Given the description of an element on the screen output the (x, y) to click on. 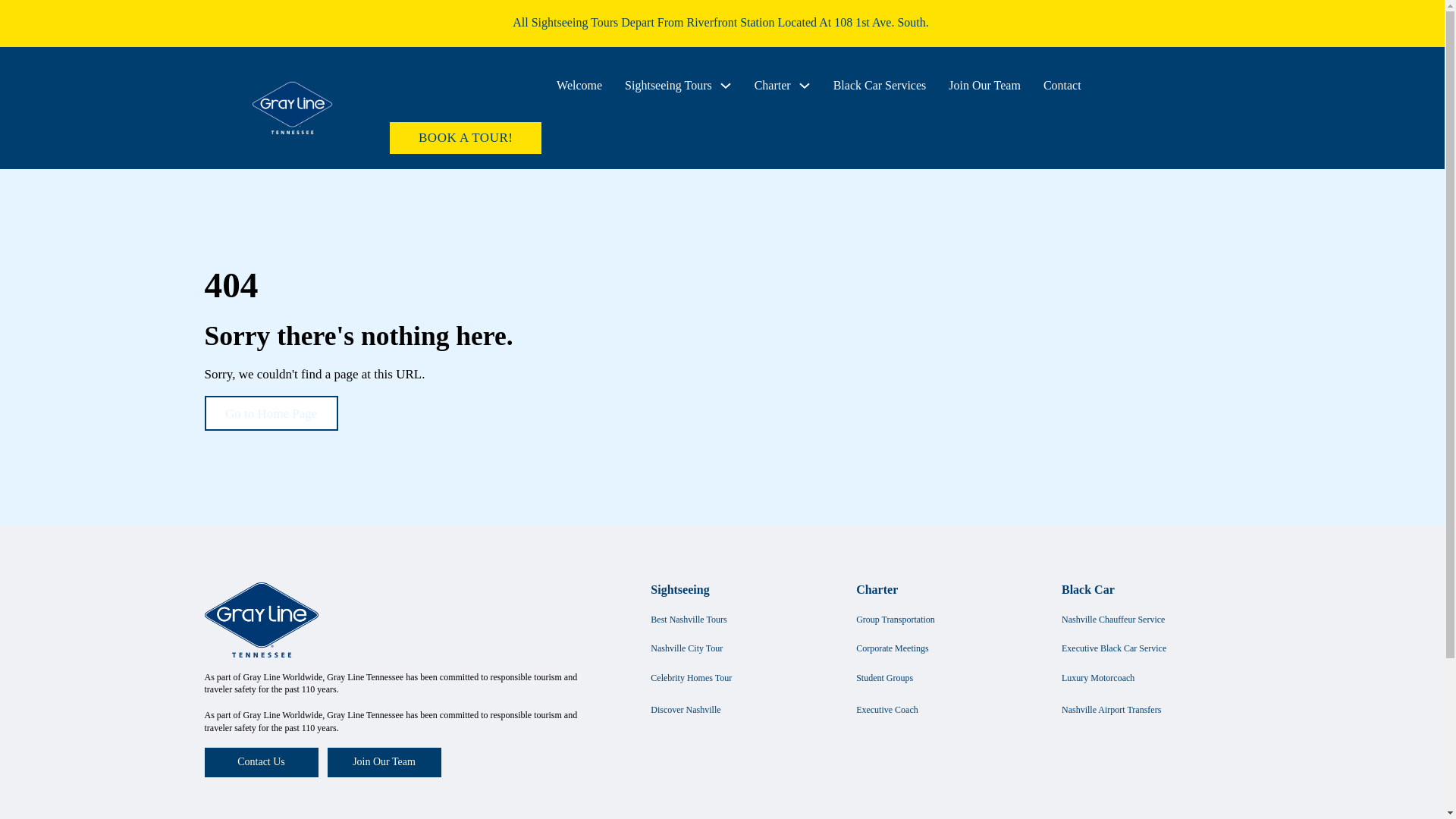
Welcome (579, 85)
Sightseeing Tours (667, 85)
Black Car Services (879, 85)
Join Our Team (984, 85)
Contact (1062, 85)
Charter (772, 85)
